Given the description of an element on the screen output the (x, y) to click on. 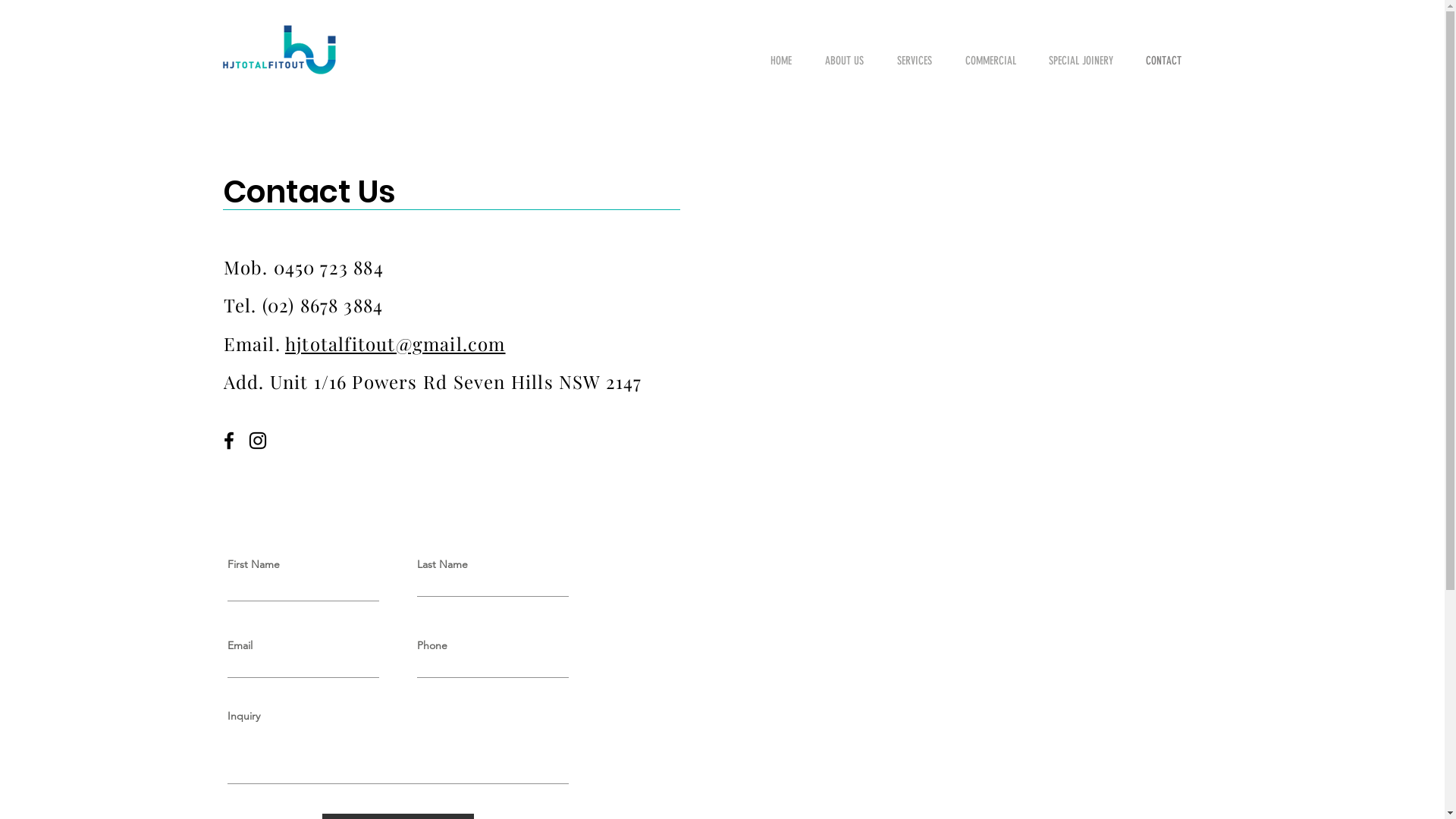
Email. Element type: text (253, 343)
CONTACT Element type: text (1168, 60)
hjtotalfitout@gmail.com Element type: text (395, 343)
HOME Element type: text (785, 60)
SERVICES Element type: text (919, 60)
ABOUT US Element type: text (848, 60)
